Given the description of an element on the screen output the (x, y) to click on. 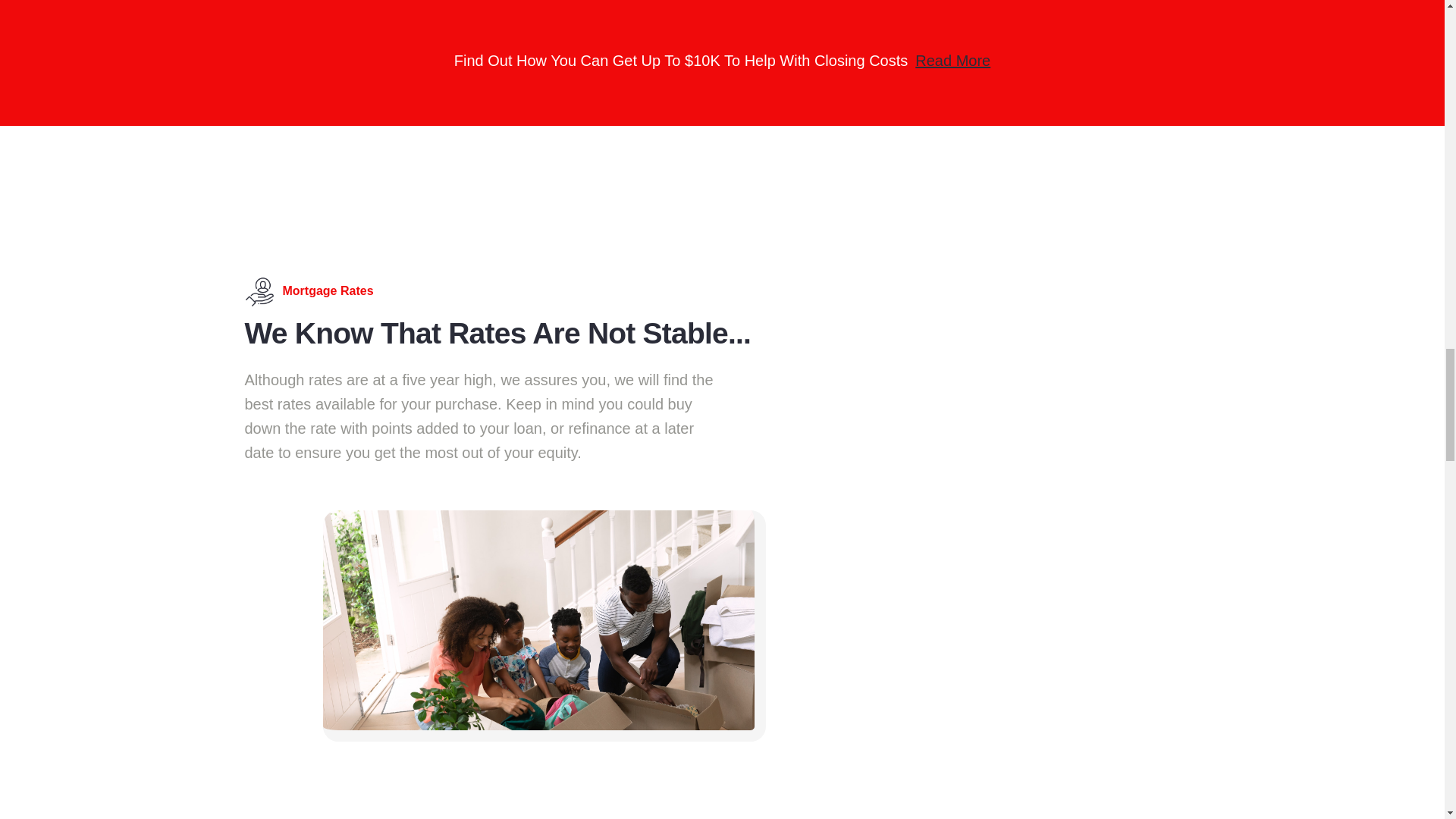
Read More (952, 60)
